Given the description of an element on the screen output the (x, y) to click on. 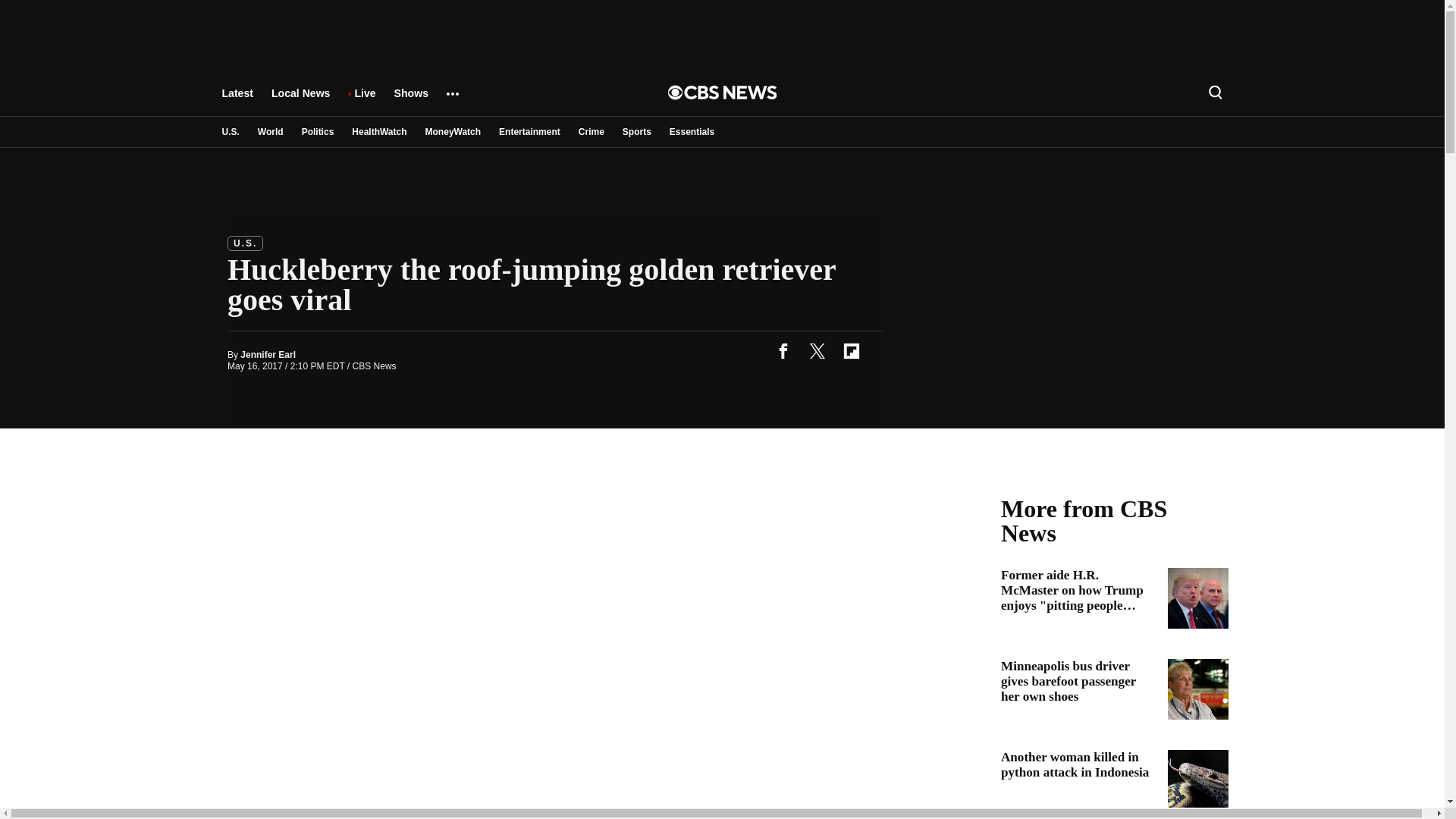
Local News (300, 100)
flipboard (850, 350)
twitter (816, 350)
Latest (236, 100)
facebook (782, 350)
